Given the description of an element on the screen output the (x, y) to click on. 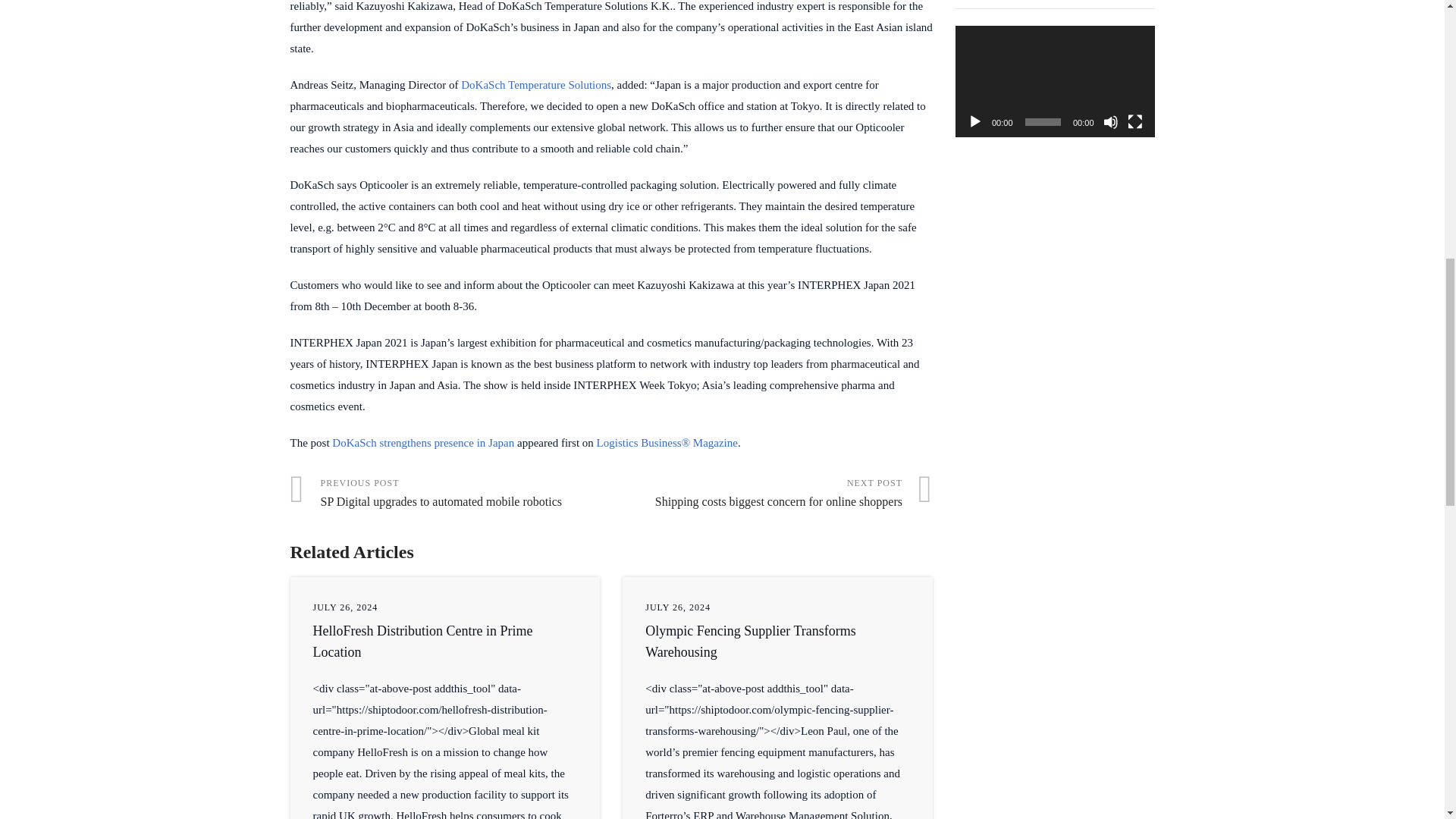
Play (975, 121)
Olympic Fencing Supplier Transforms Warehousing (750, 641)
HelloFresh Distribution Centre in Prime Location (422, 641)
DoKaSch Temperature Solutions (772, 493)
Shipping costs biggest concern for online shoppers (536, 84)
Olympic Fencing Supplier Transforms Warehousing (772, 493)
Mute (750, 641)
SP Digital upgrades to automated mobile robotics (1110, 121)
DoKaSch strengthens presence in Japan (450, 493)
HelloFresh Distribution Centre in Prime Location (422, 442)
Fullscreen (422, 641)
